Given the description of an element on the screen output the (x, y) to click on. 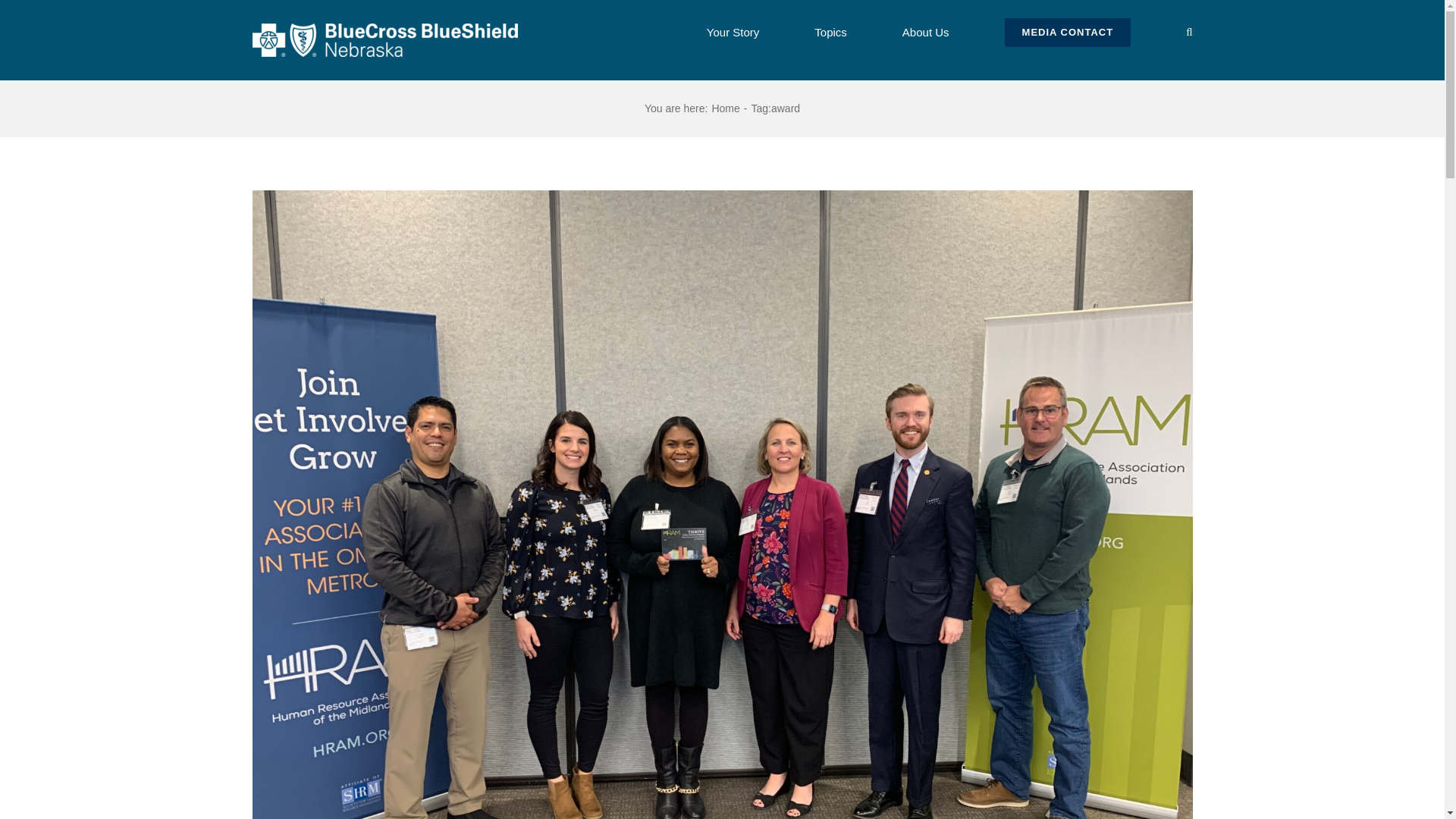
MEDIA CONTACT (1067, 30)
Home (725, 108)
